Given the description of an element on the screen output the (x, y) to click on. 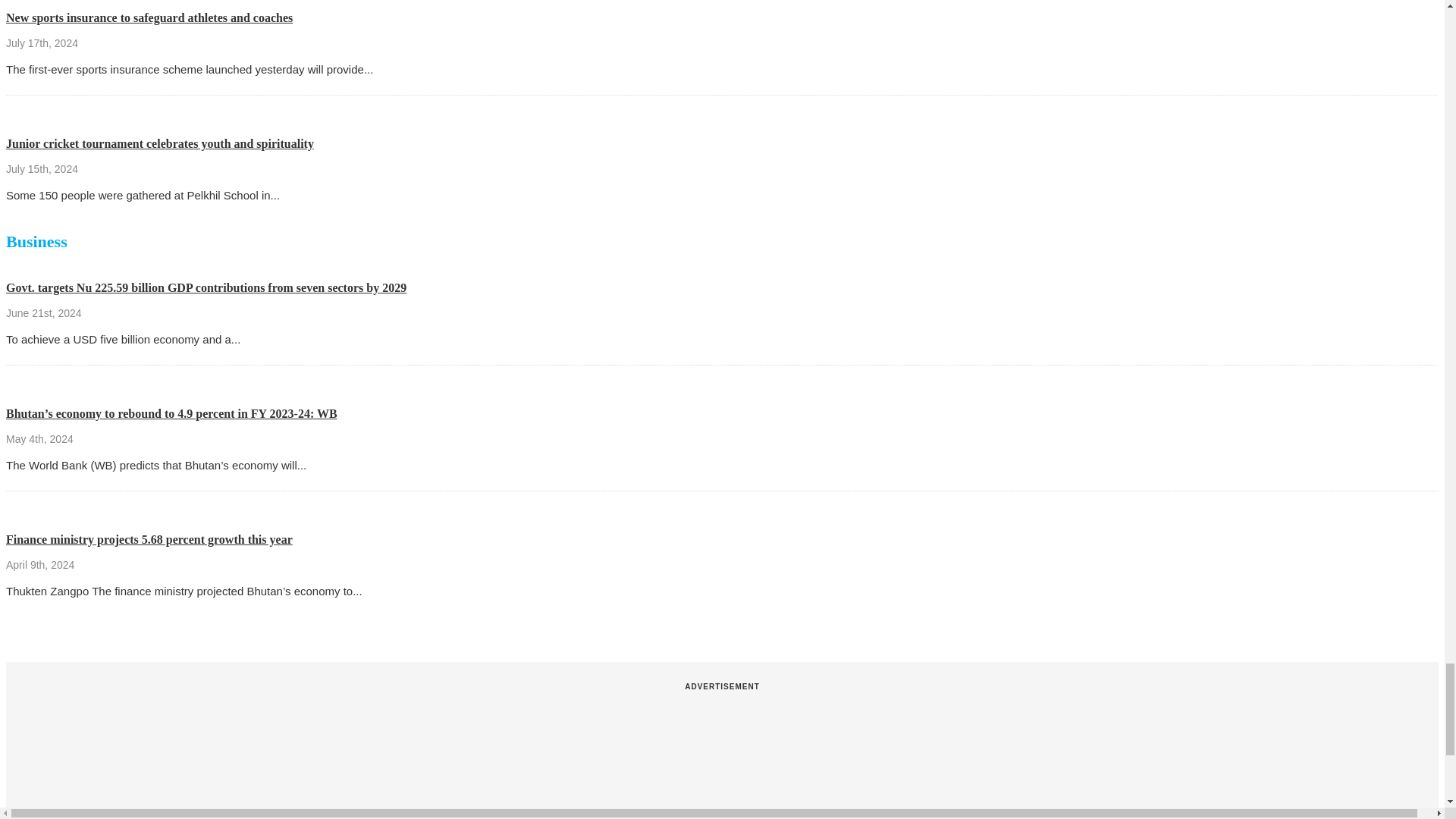
New sports insurance to safeguard athletes and coaches (148, 17)
Finance ministry projects 5.68 percent growth this year (148, 539)
Junior cricket tournament celebrates youth and spirituality (159, 143)
